Given the description of an element on the screen output the (x, y) to click on. 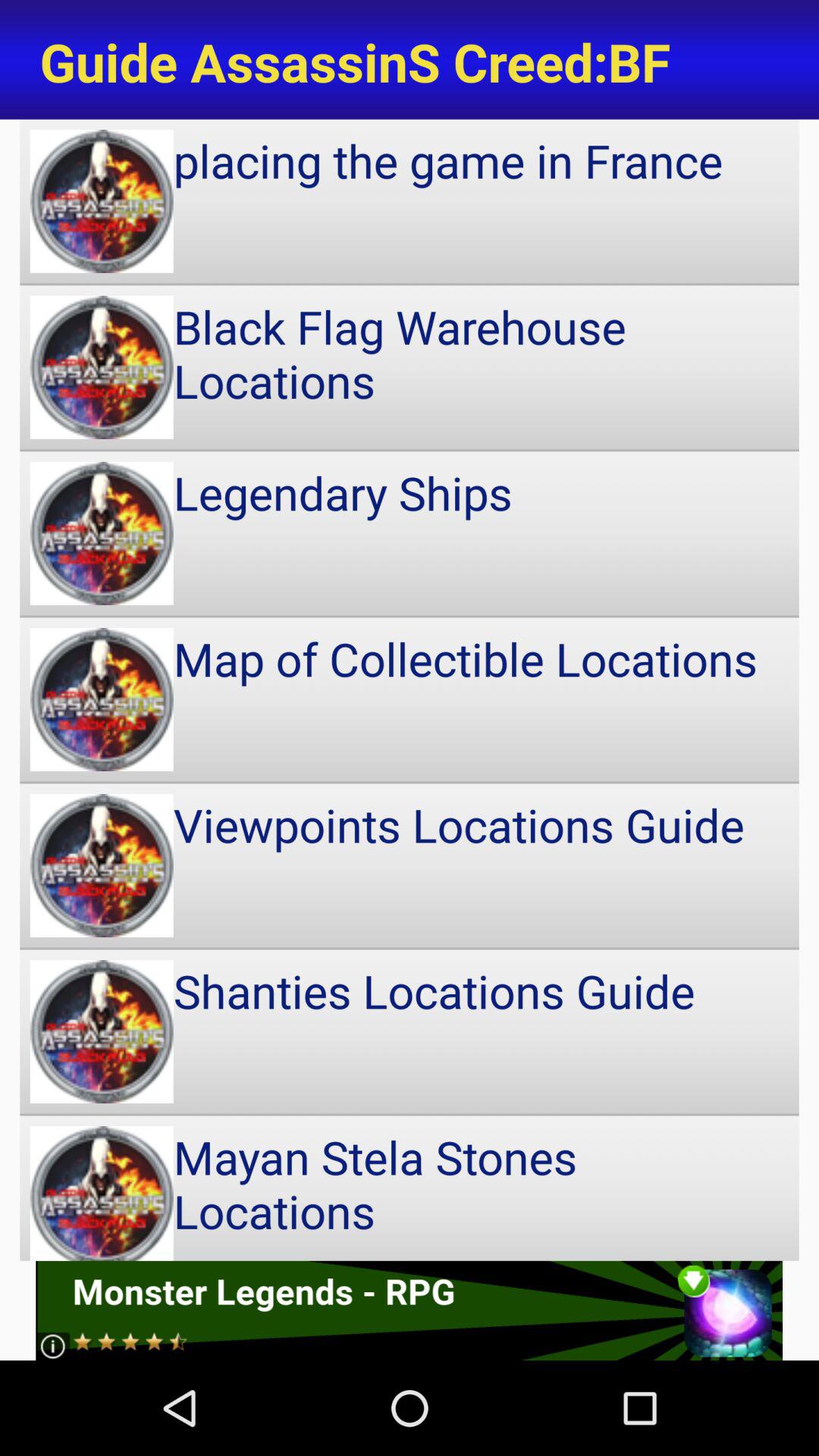
press item above the map of collectible item (409, 533)
